Given the description of an element on the screen output the (x, y) to click on. 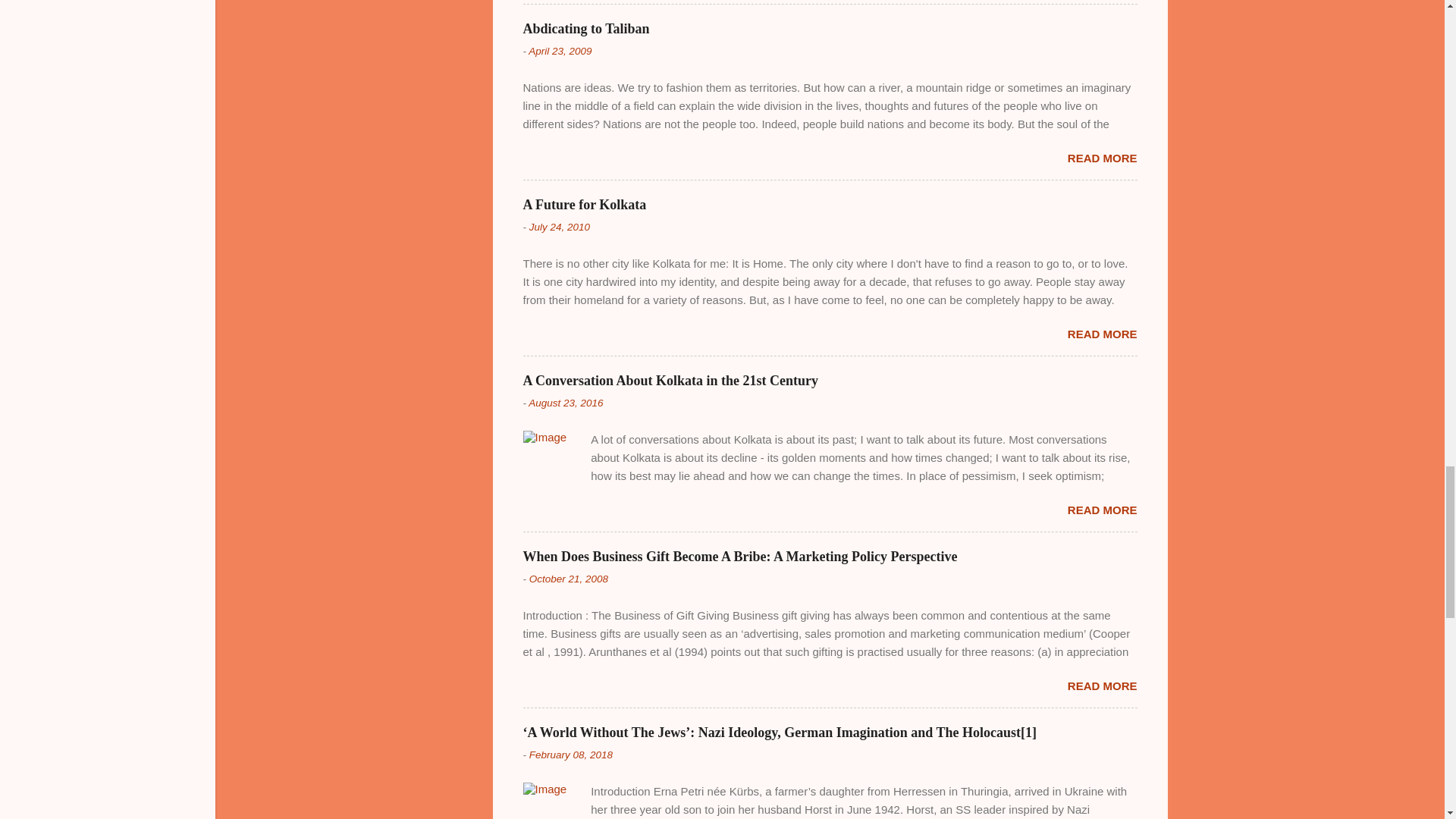
A Future for Kolkata (584, 204)
October 21, 2008 (568, 578)
READ MORE (1102, 157)
READ MORE (1102, 685)
READ MORE (1102, 333)
August 23, 2016 (565, 402)
April 23, 2009 (559, 50)
READ MORE (1102, 509)
July 24, 2010 (559, 226)
Abdicating to Taliban (585, 28)
A Conversation About Kolkata in the 21st Century (670, 380)
